Given the description of an element on the screen output the (x, y) to click on. 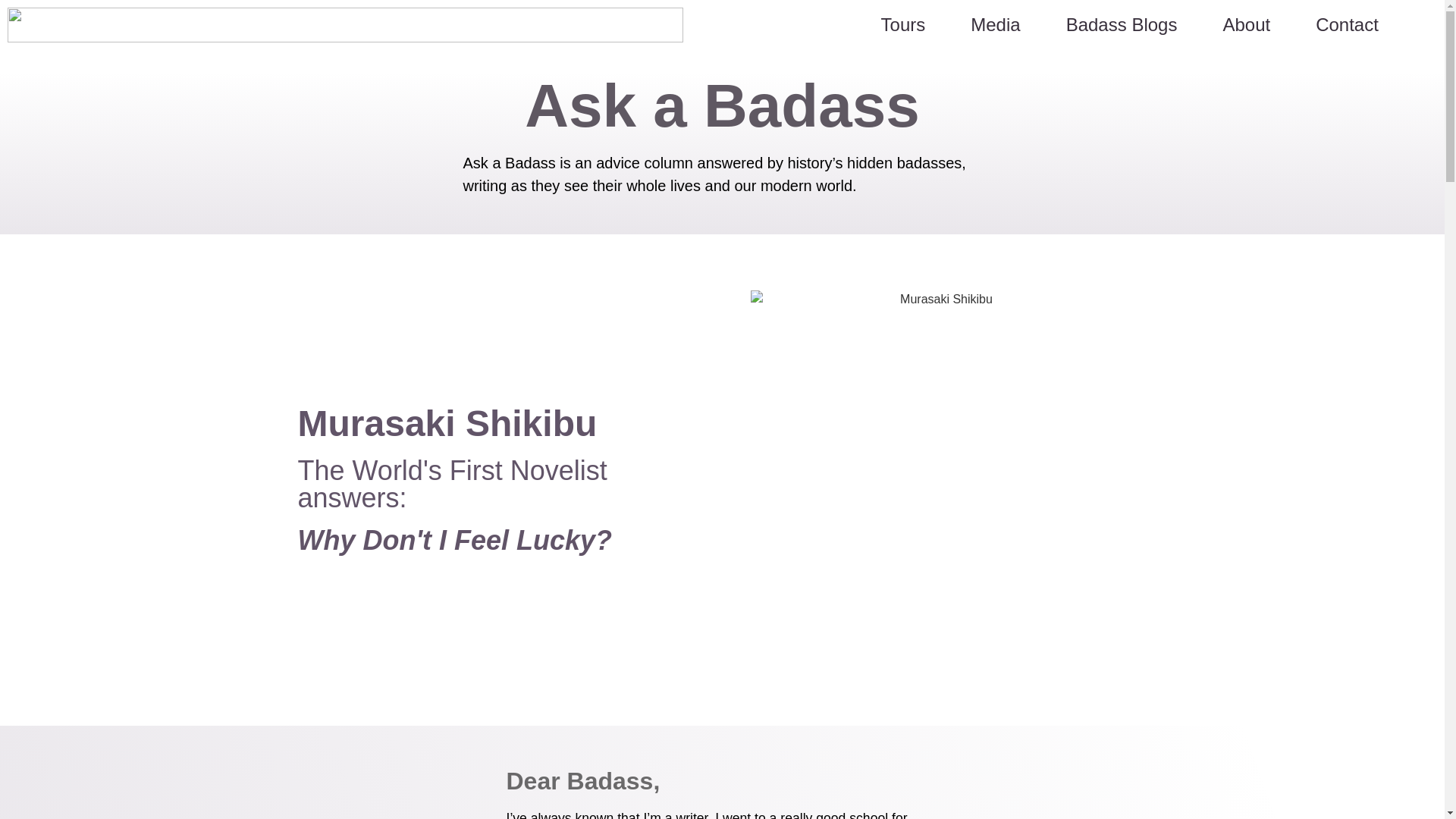
Tours (903, 24)
About (1246, 24)
Media (995, 24)
Contact (1346, 24)
Badass Blogs (1121, 24)
